Given the description of an element on the screen output the (x, y) to click on. 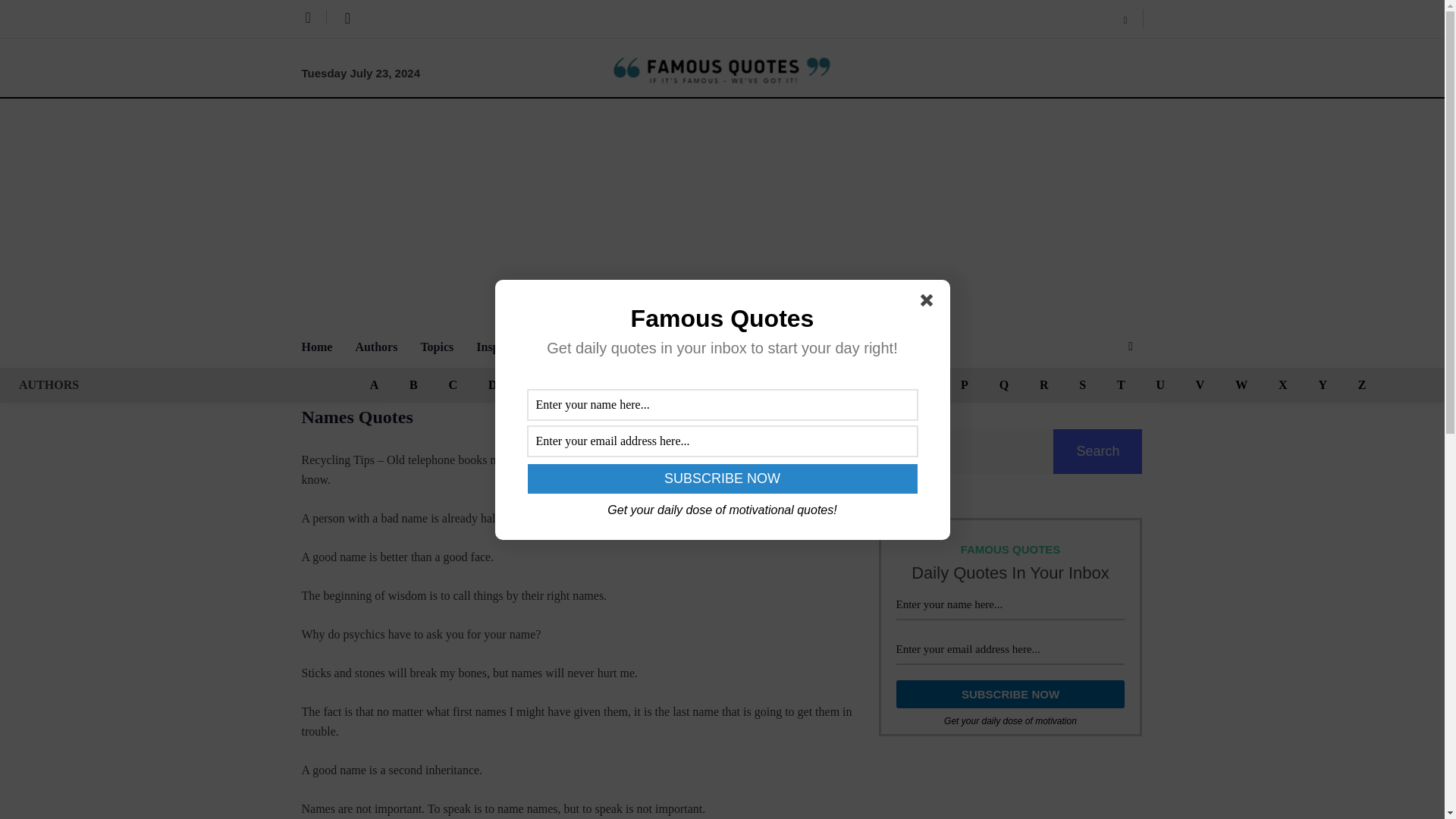
Topics (448, 346)
Home (328, 346)
Contact (642, 346)
Subscribe Now (722, 478)
Close optin form (929, 303)
Inspire (505, 346)
Subscribe Now (1010, 694)
Authors (387, 346)
Policies (572, 346)
